Given the description of an element on the screen output the (x, y) to click on. 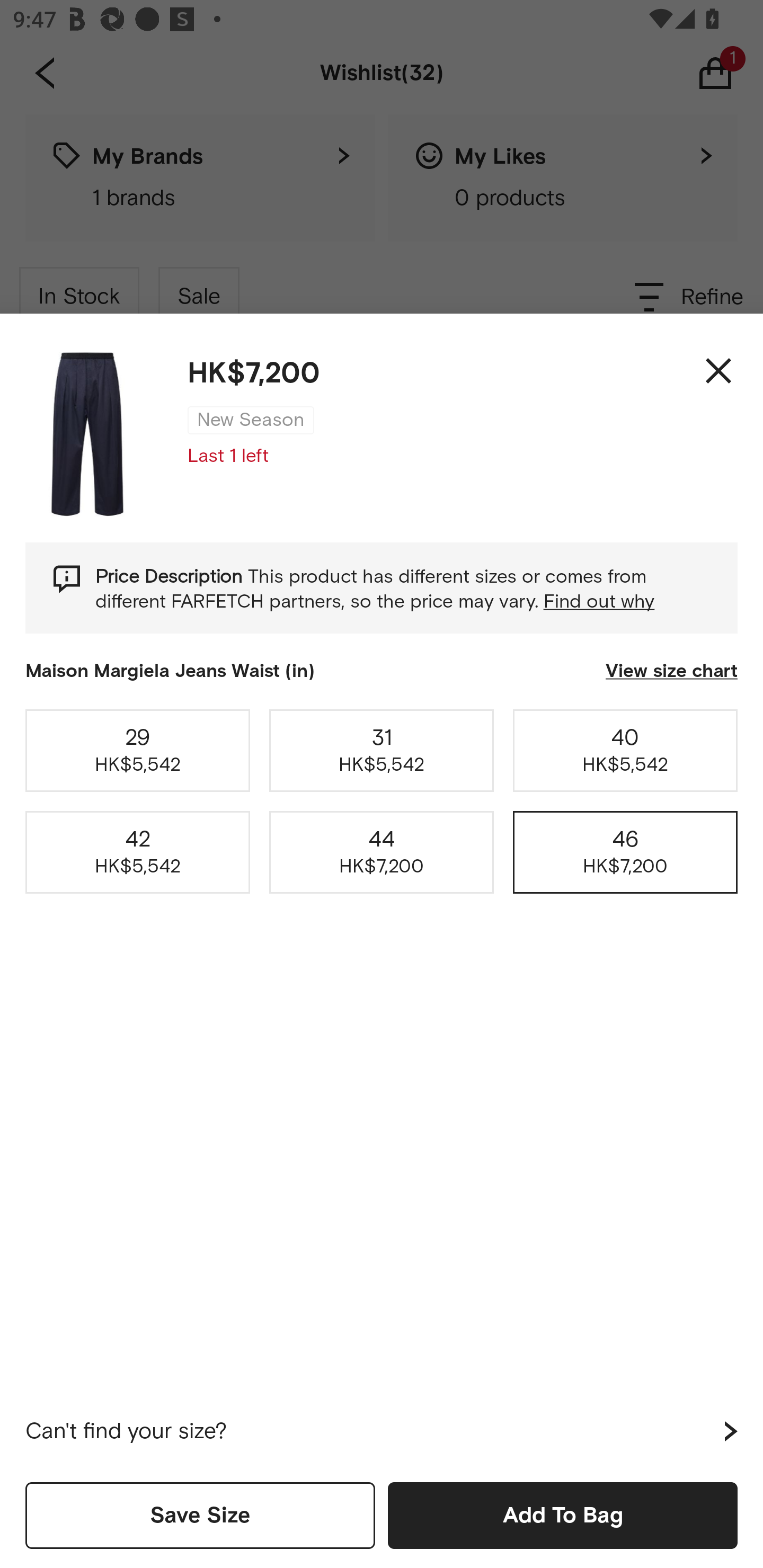
29 HK$5,542 (137, 749)
31 HK$5,542 (381, 749)
40 HK$5,542 (624, 749)
42 HK$5,542 (137, 851)
44 HK$7,200 (381, 851)
46 HK$7,200 (624, 851)
Can't find your size? (381, 1431)
Save Size (200, 1515)
Add To Bag (562, 1515)
